Given the description of an element on the screen output the (x, y) to click on. 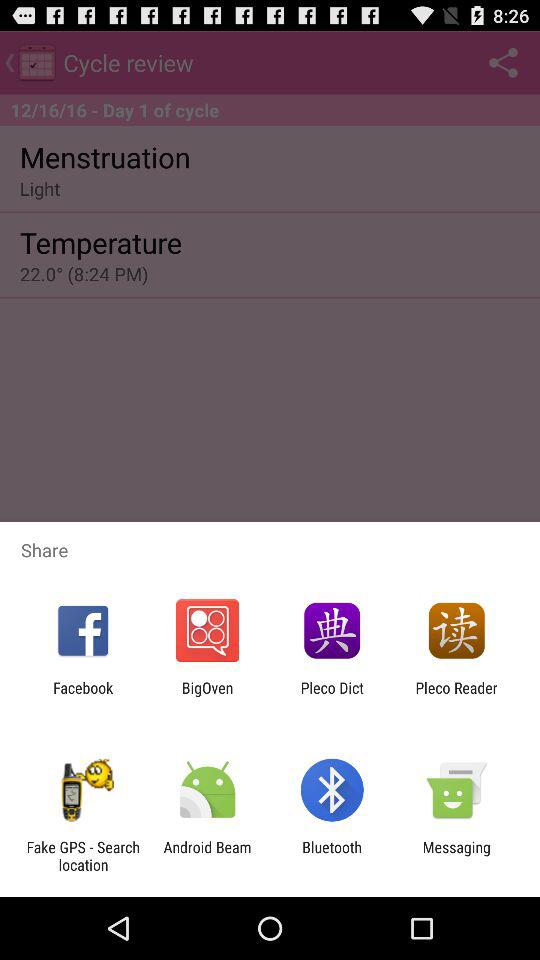
open the item next to bluetooth (456, 856)
